Given the description of an element on the screen output the (x, y) to click on. 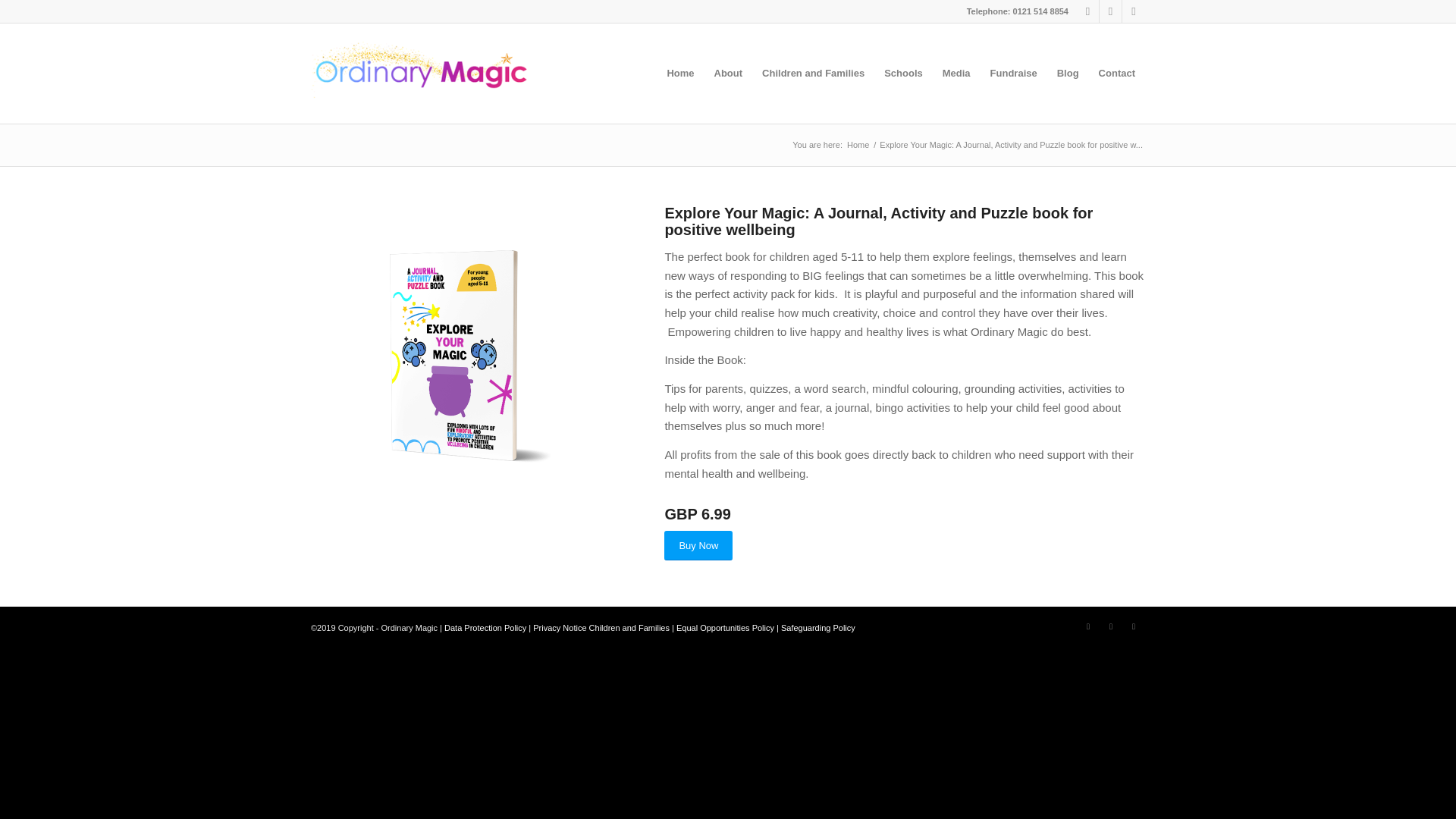
Privacy Notice Children and Families (600, 627)
Equal Opportunities Policy (725, 627)
Children and Families (813, 73)
Instagram (1133, 626)
LinkedIn (1110, 626)
Instagram (1133, 11)
Safeguarding Policy (818, 627)
LinkedIn (1110, 11)
Facebook (1088, 11)
Data Protection Policy (484, 627)
ordinarymagiclogonew (420, 73)
Ordinary Magic (857, 144)
Facebook (1088, 626)
Home (857, 144)
Buy Now (697, 545)
